Given the description of an element on the screen output the (x, y) to click on. 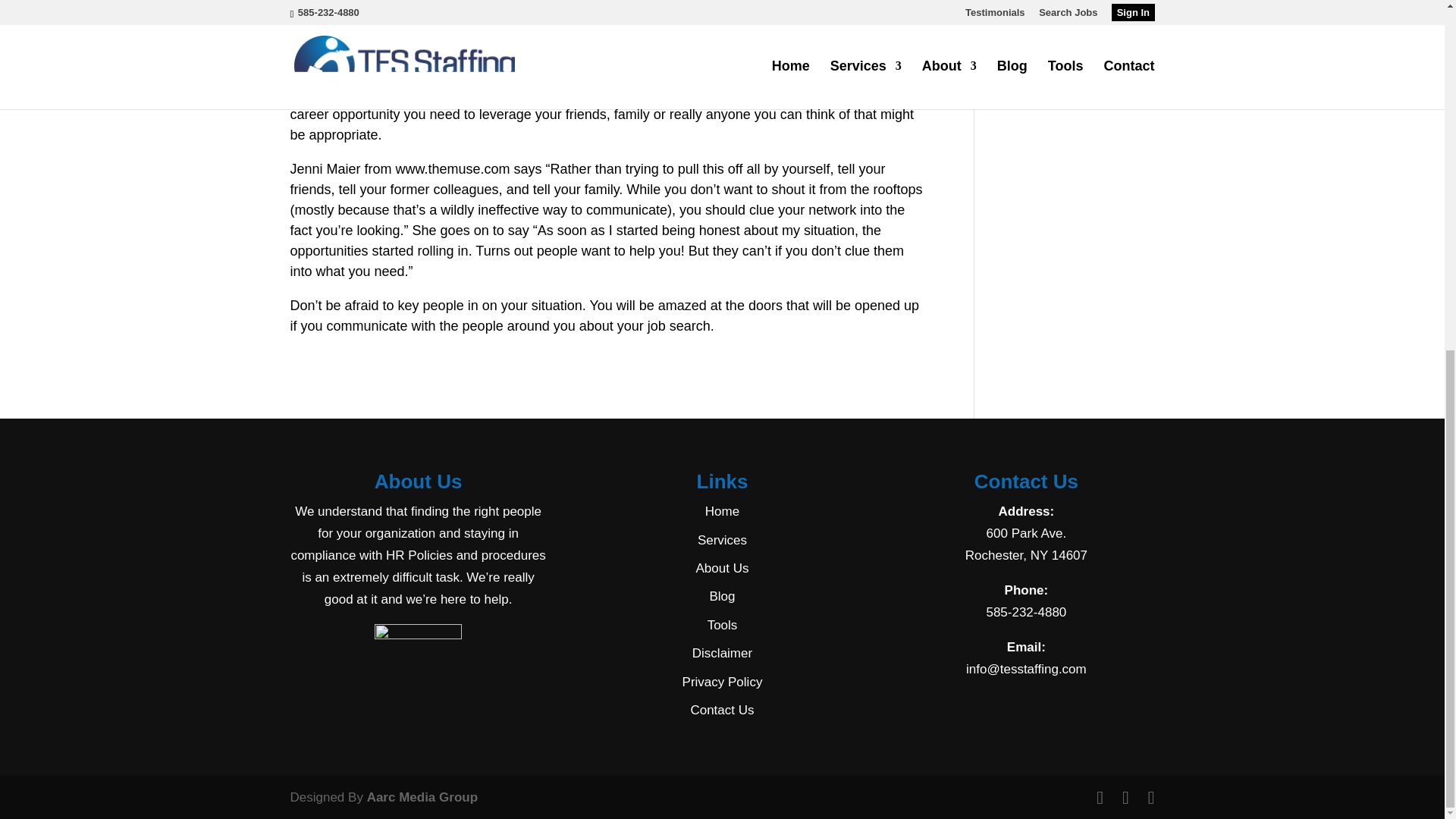
About Us (722, 568)
Home (721, 511)
Tools (722, 625)
Services (721, 540)
Blog (722, 595)
Disclaimer (722, 653)
